Given the description of an element on the screen output the (x, y) to click on. 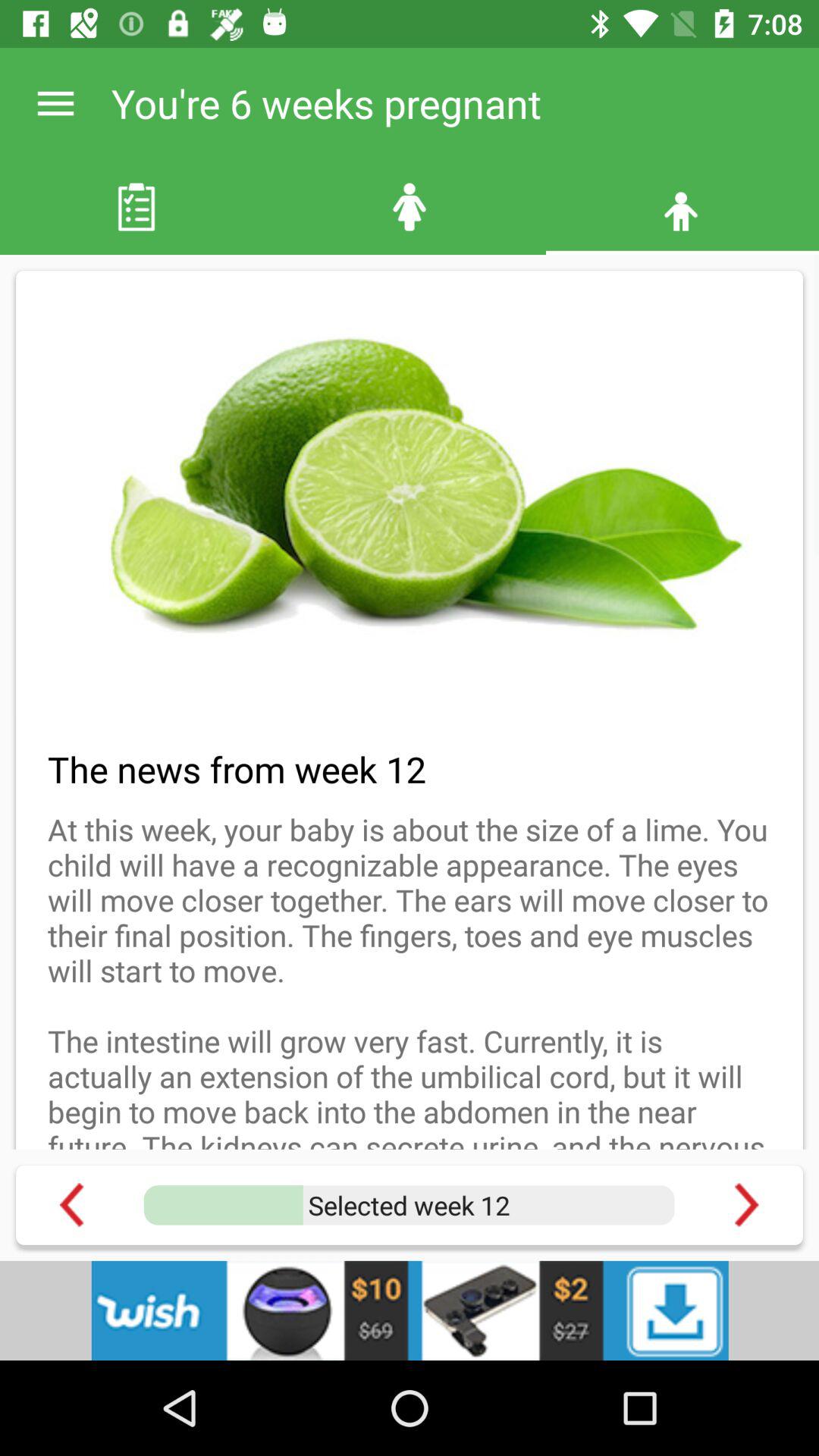
go to next page (746, 1204)
